Given the description of an element on the screen output the (x, y) to click on. 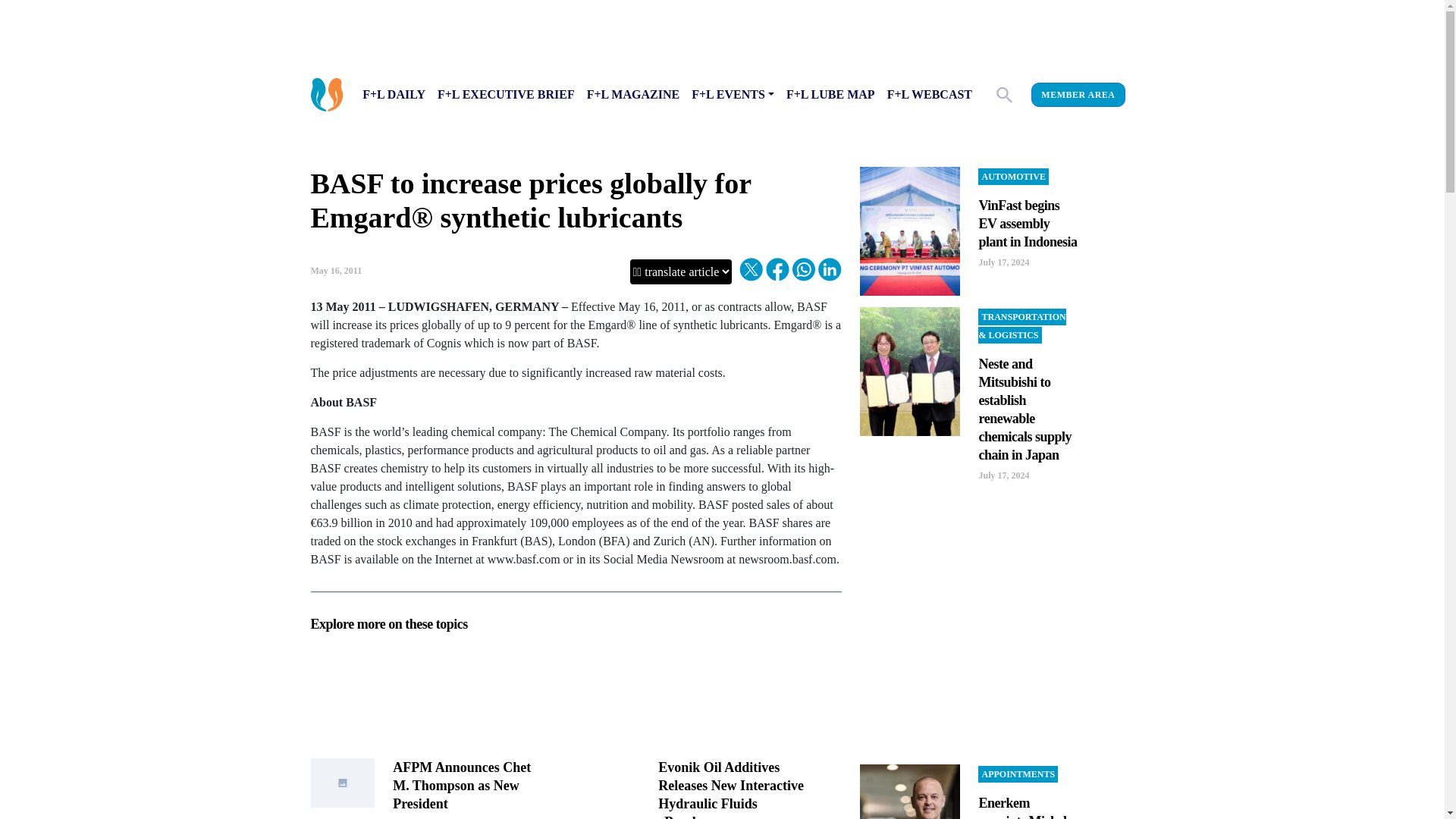
July 17, 2024 (1003, 262)
May 16, 2011 (336, 270)
VinFast begins EV assembly plant in Indonesia (1027, 223)
AUTOMOTIVE (1013, 176)
AFPM Announces Chet M. Thompson as New President (462, 785)
MEMBER AREA (1077, 94)
